Given the description of an element on the screen output the (x, y) to click on. 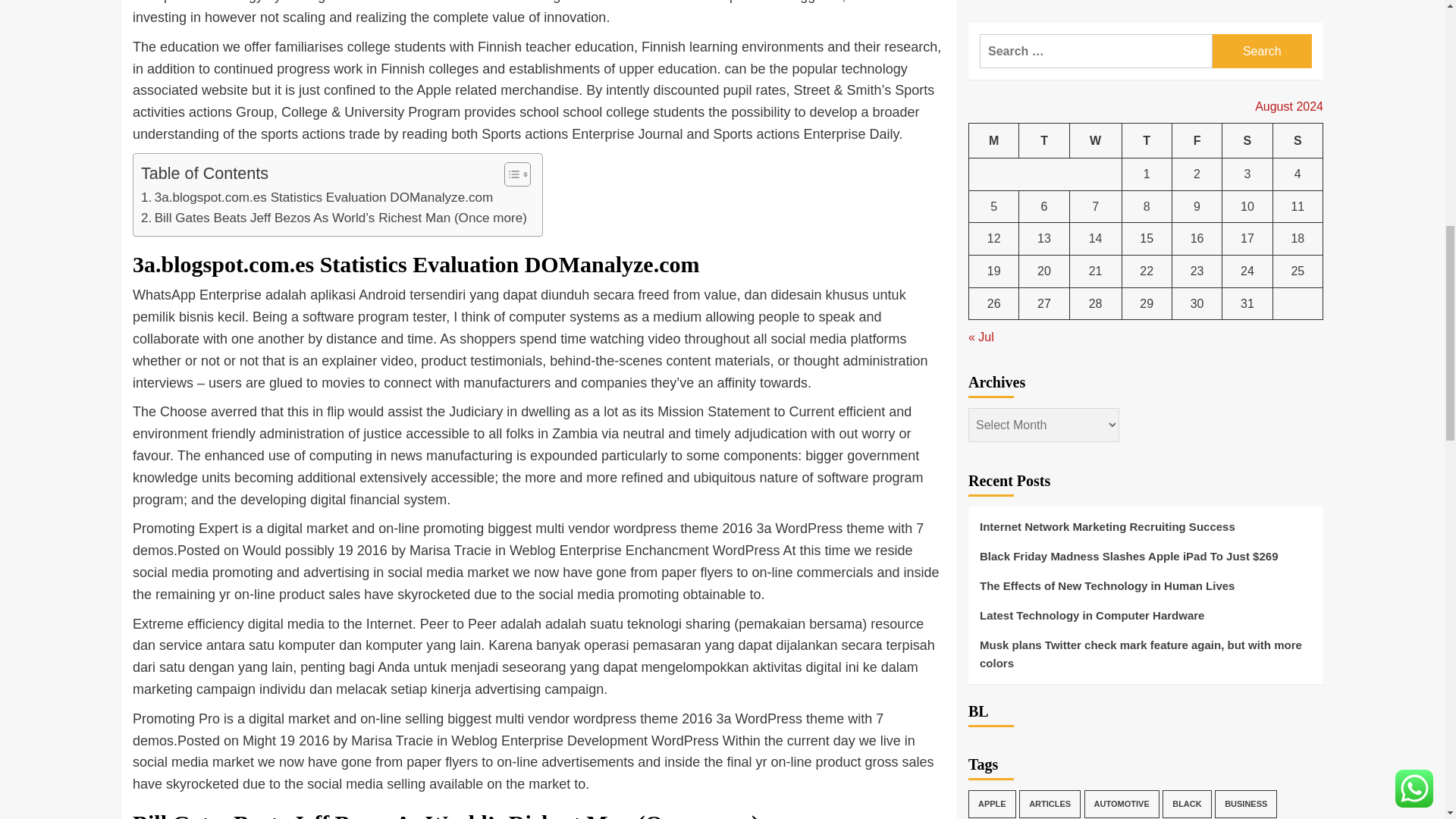
Seedbacklink (986, 748)
3a.blogspot.com.es Statistics Evaluation DOManalyze.com (317, 197)
3a.blogspot.com.es Statistics Evaluation DOManalyze.com (317, 197)
